Given the description of an element on the screen output the (x, y) to click on. 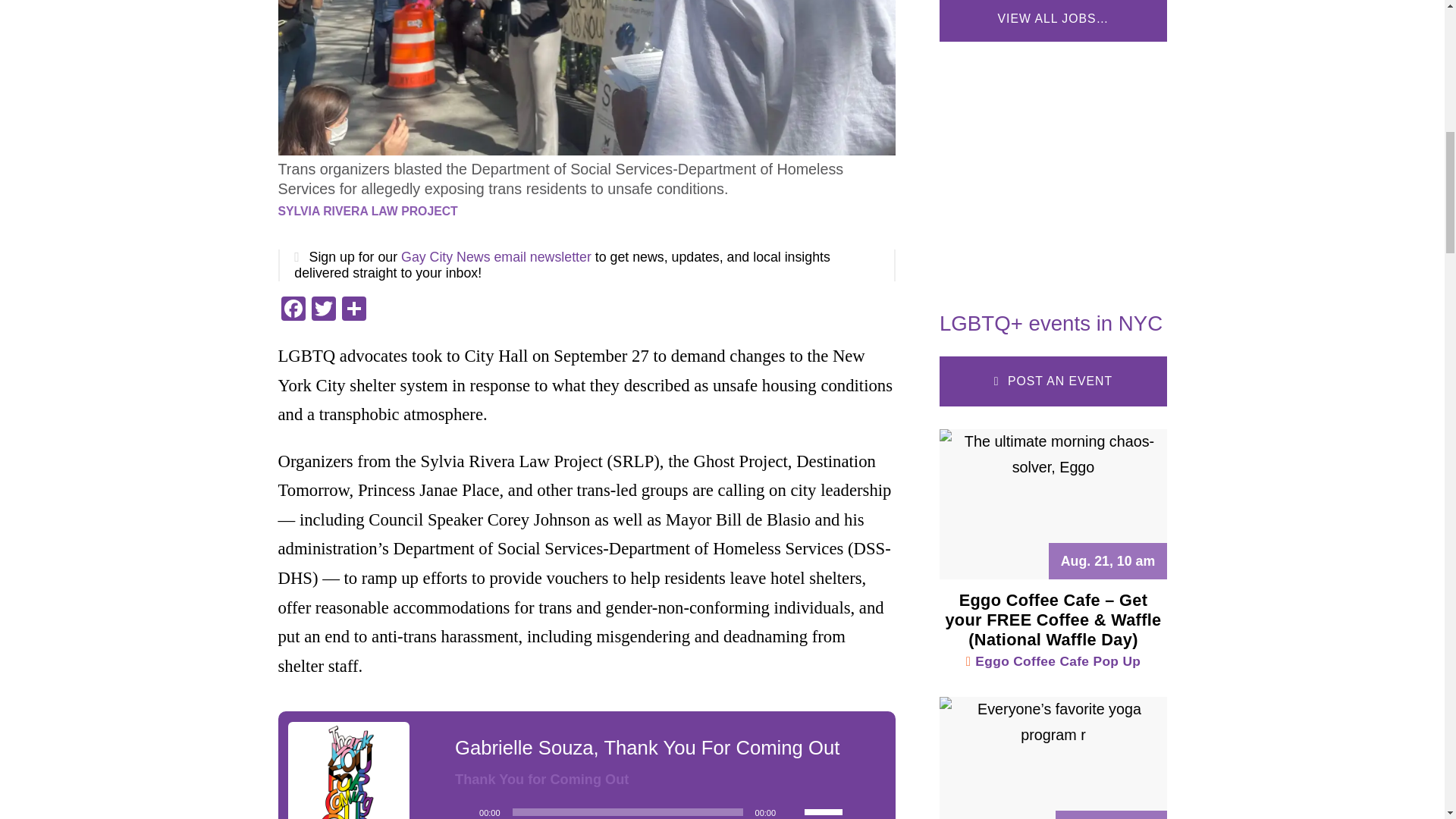
Mute (791, 811)
Twitter (322, 310)
Facebook (292, 310)
Play (462, 811)
